Given the description of an element on the screen output the (x, y) to click on. 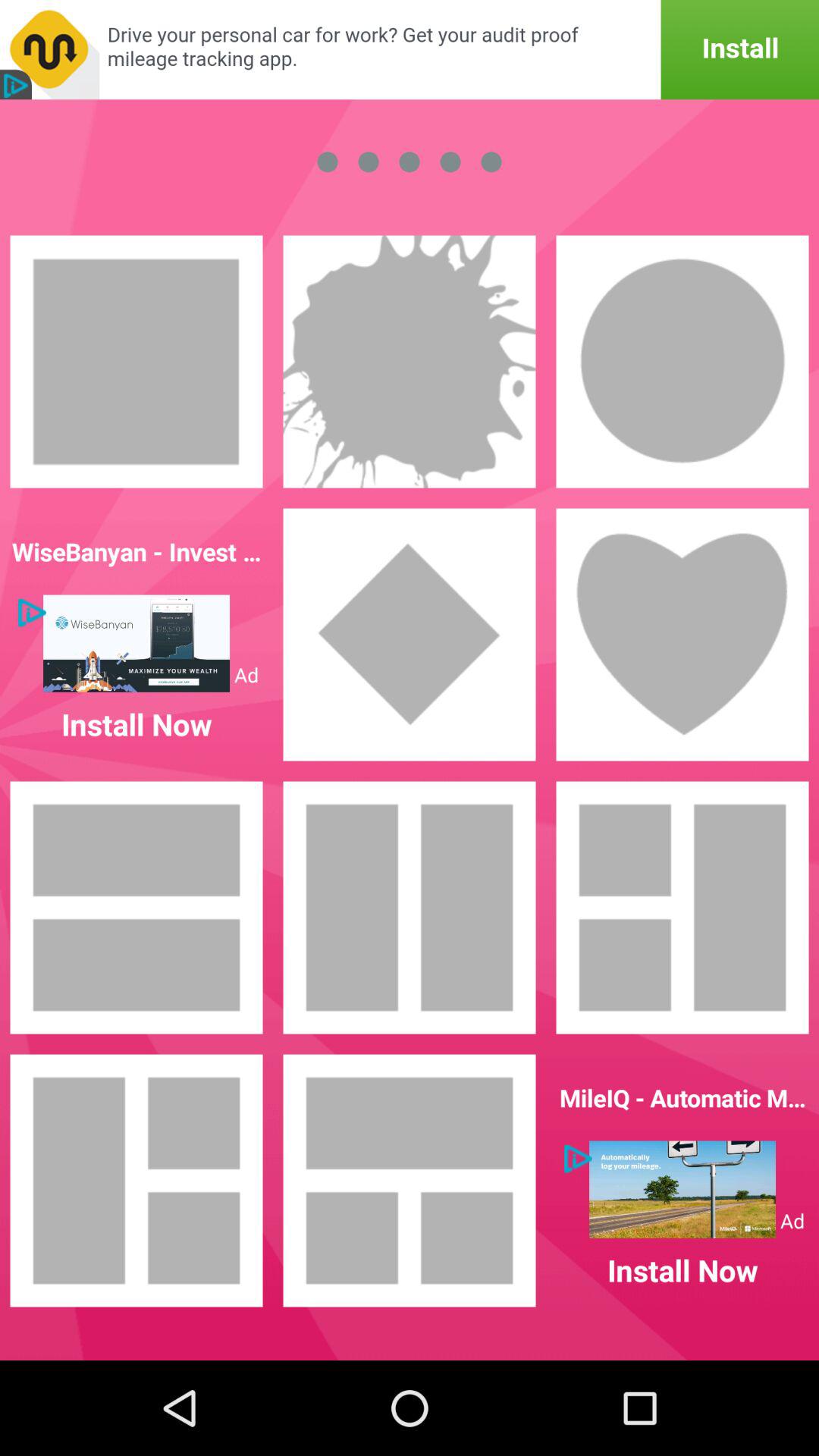
add tiles (409, 907)
